Given the description of an element on the screen output the (x, y) to click on. 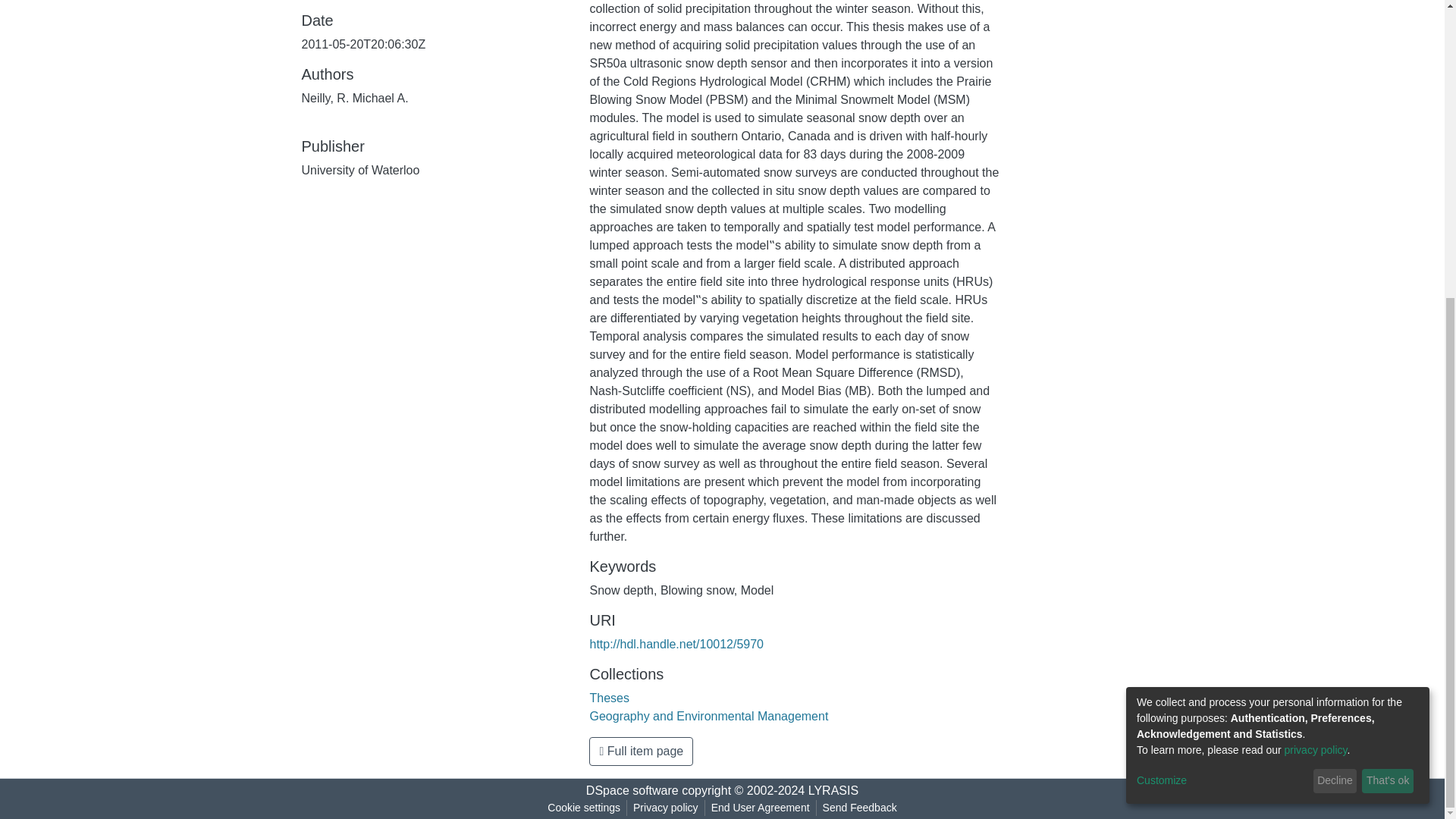
privacy policy (1316, 289)
Customize (1222, 320)
Send Feedback (859, 807)
Decline (1334, 320)
That's ok (1387, 320)
Geography and Environmental Management (708, 716)
End User Agreement (759, 807)
Full item page (641, 751)
Privacy policy (665, 807)
Theses (608, 697)
